Given the description of an element on the screen output the (x, y) to click on. 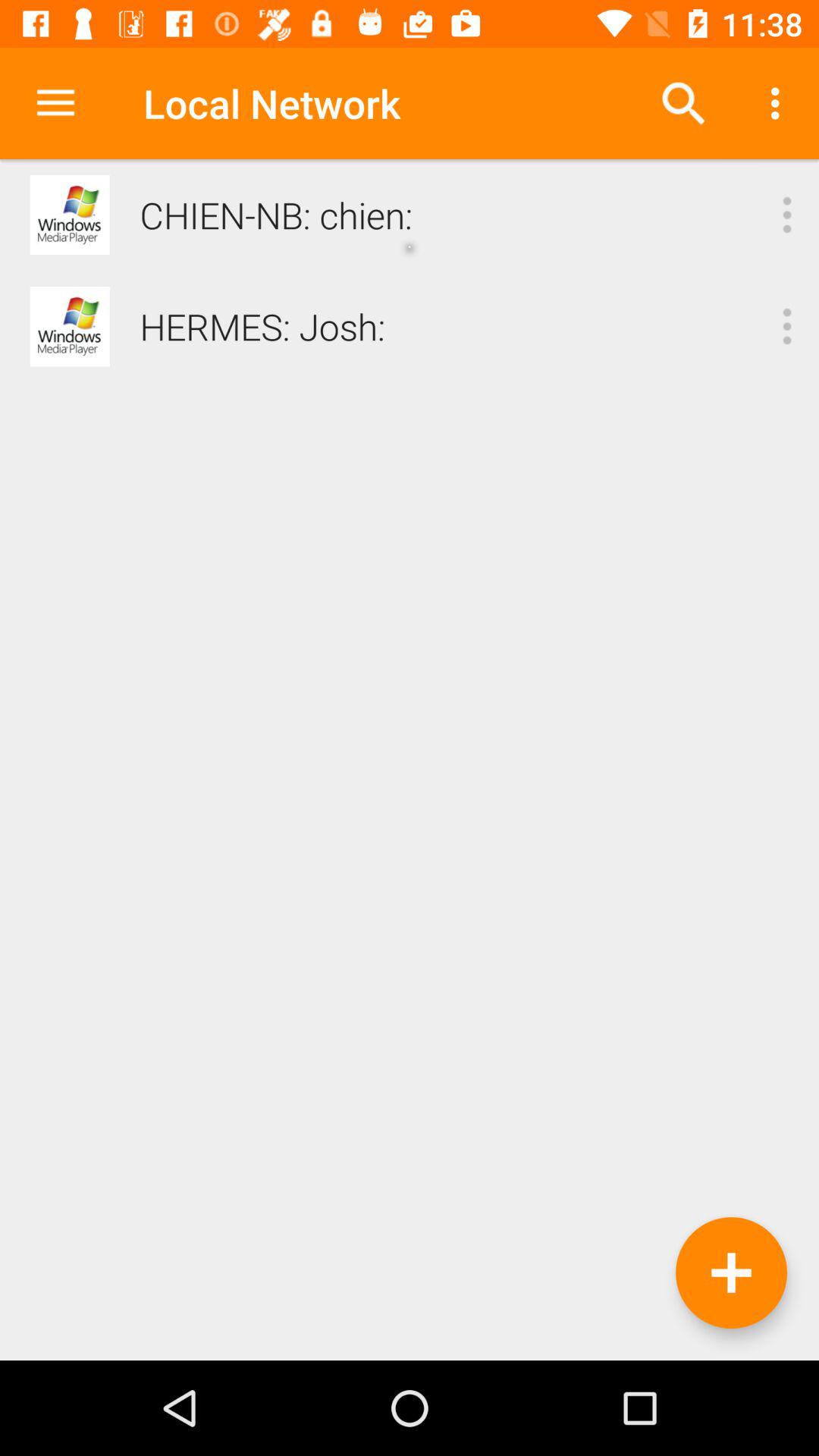
more options (787, 326)
